Given the description of an element on the screen output the (x, y) to click on. 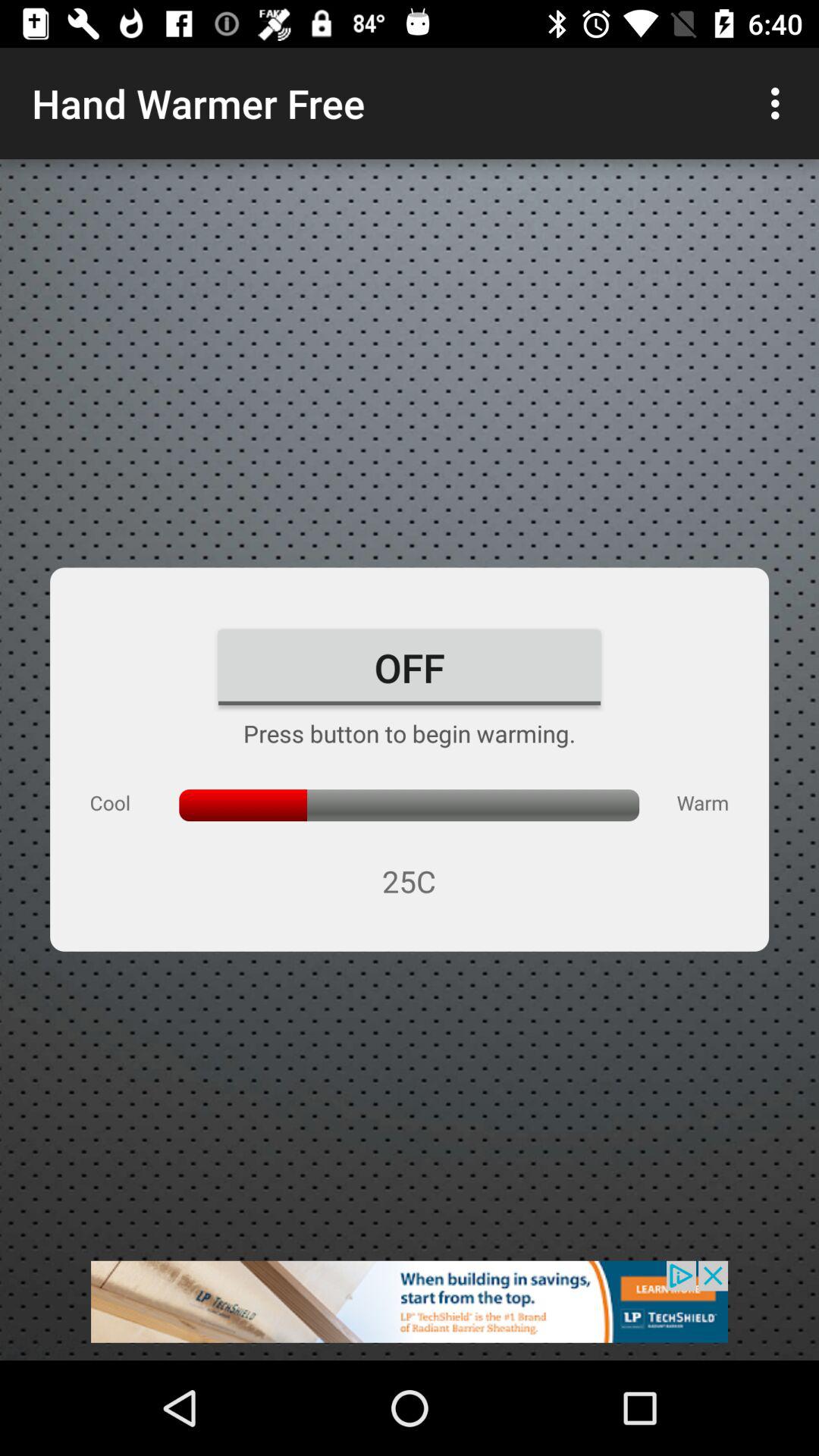
advertisement (409, 1310)
